Given the description of an element on the screen output the (x, y) to click on. 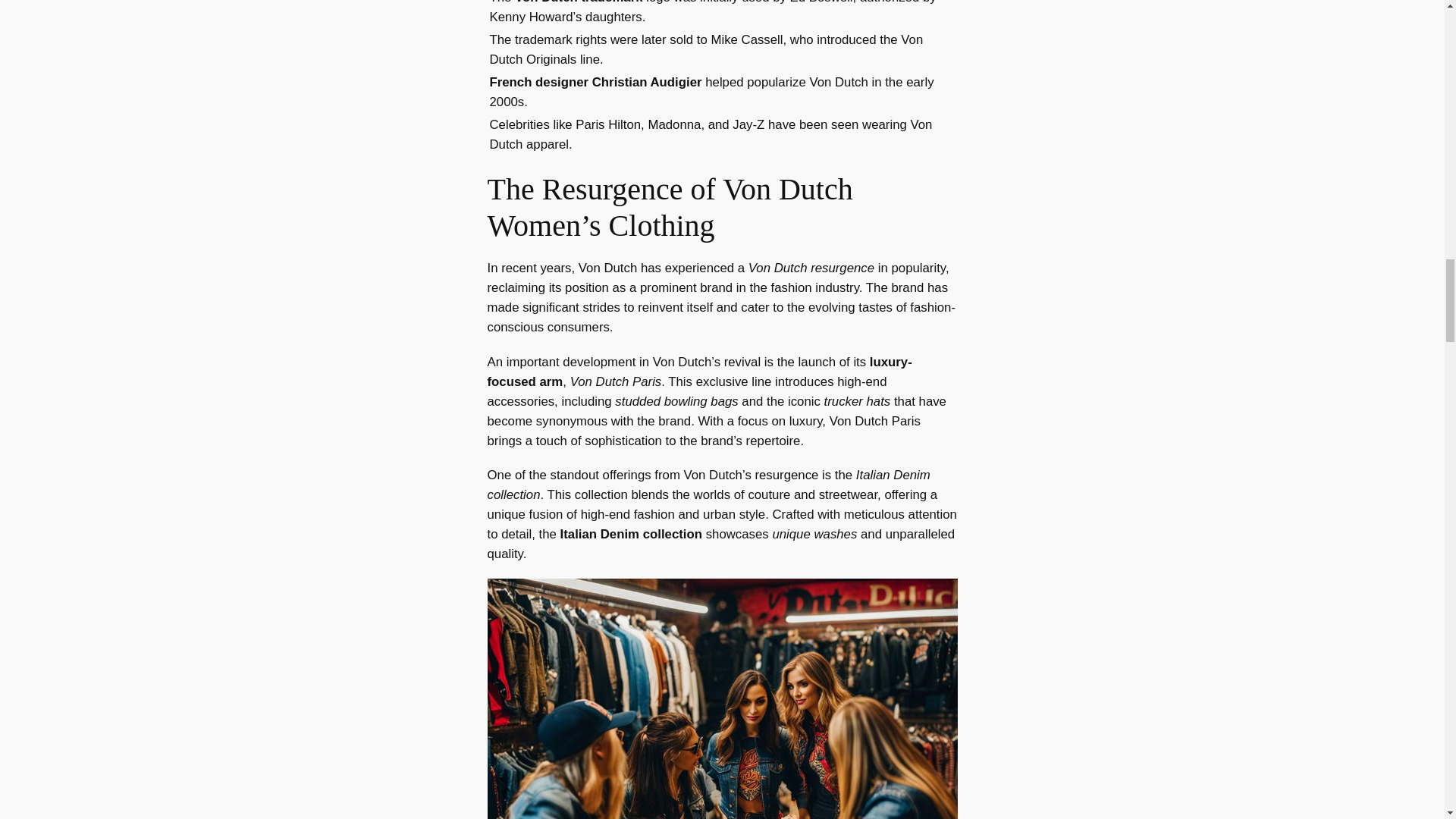
von dutch resurgence (721, 698)
